Given the description of an element on the screen output the (x, y) to click on. 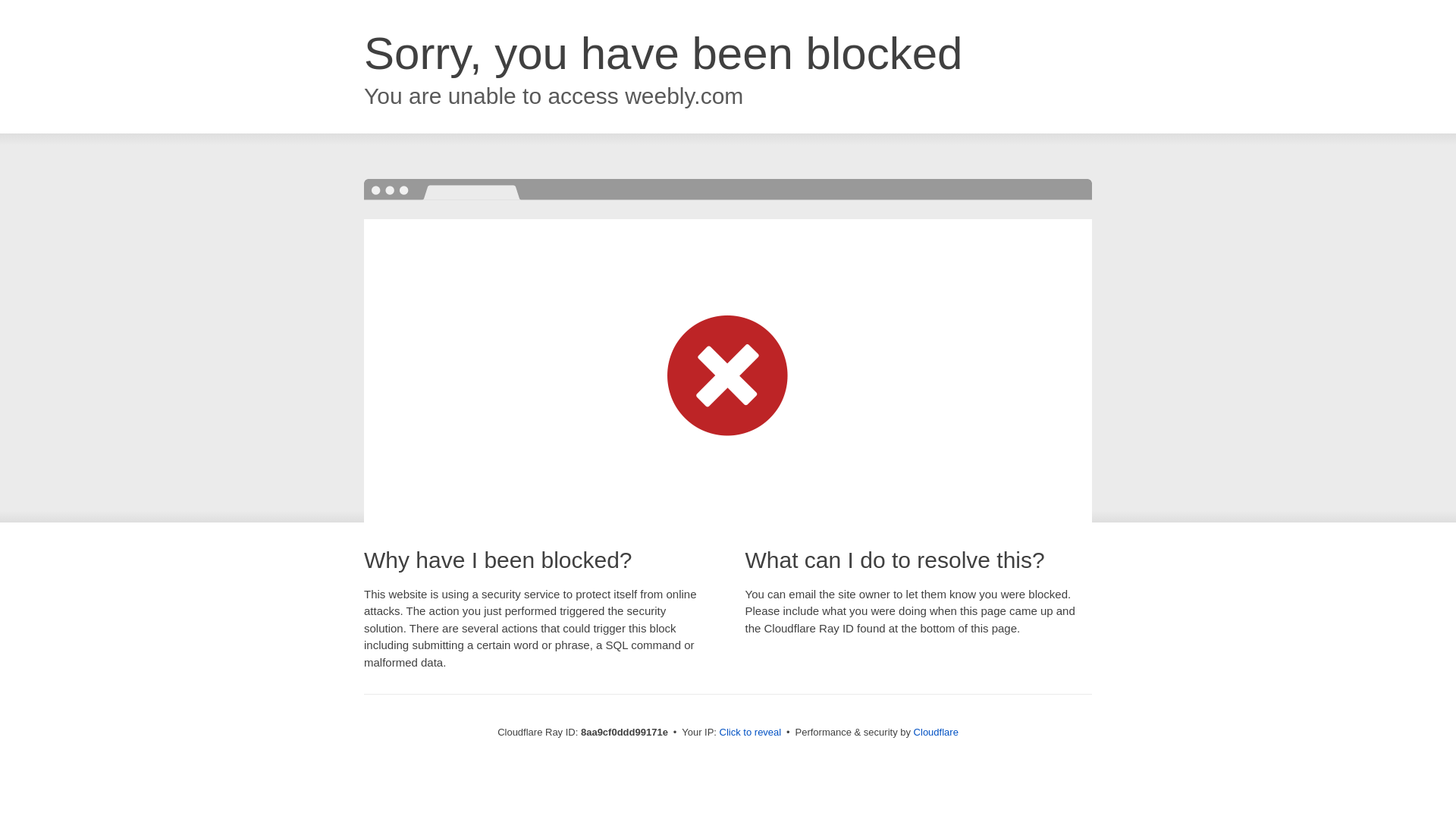
Cloudflare (936, 731)
Click to reveal (750, 732)
